Given the description of an element on the screen output the (x, y) to click on. 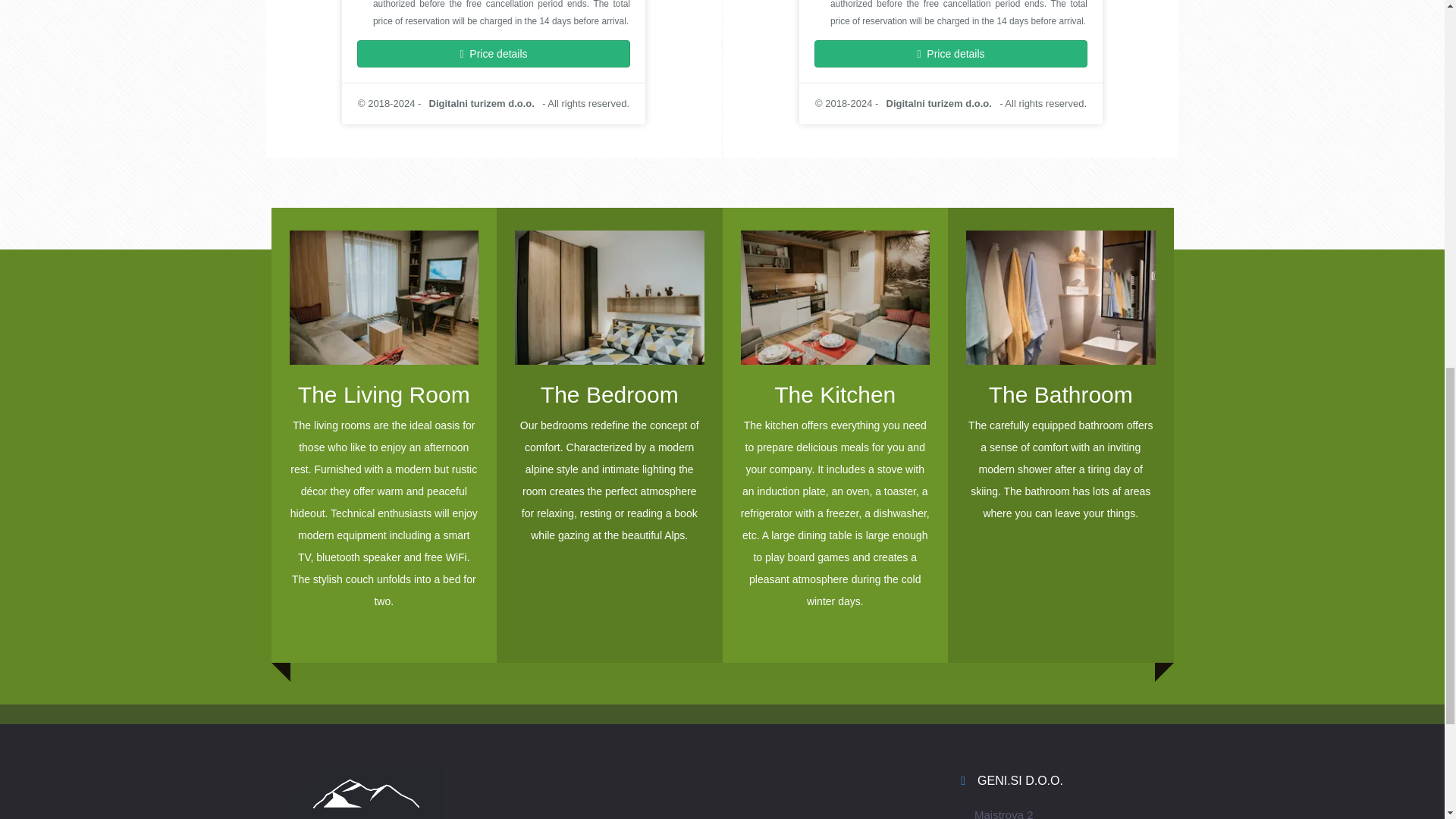
The Kitchen (834, 422)
The Bedroom (609, 422)
The Bathroom (1061, 422)
The Living Room (384, 422)
